Given the description of an element on the screen output the (x, y) to click on. 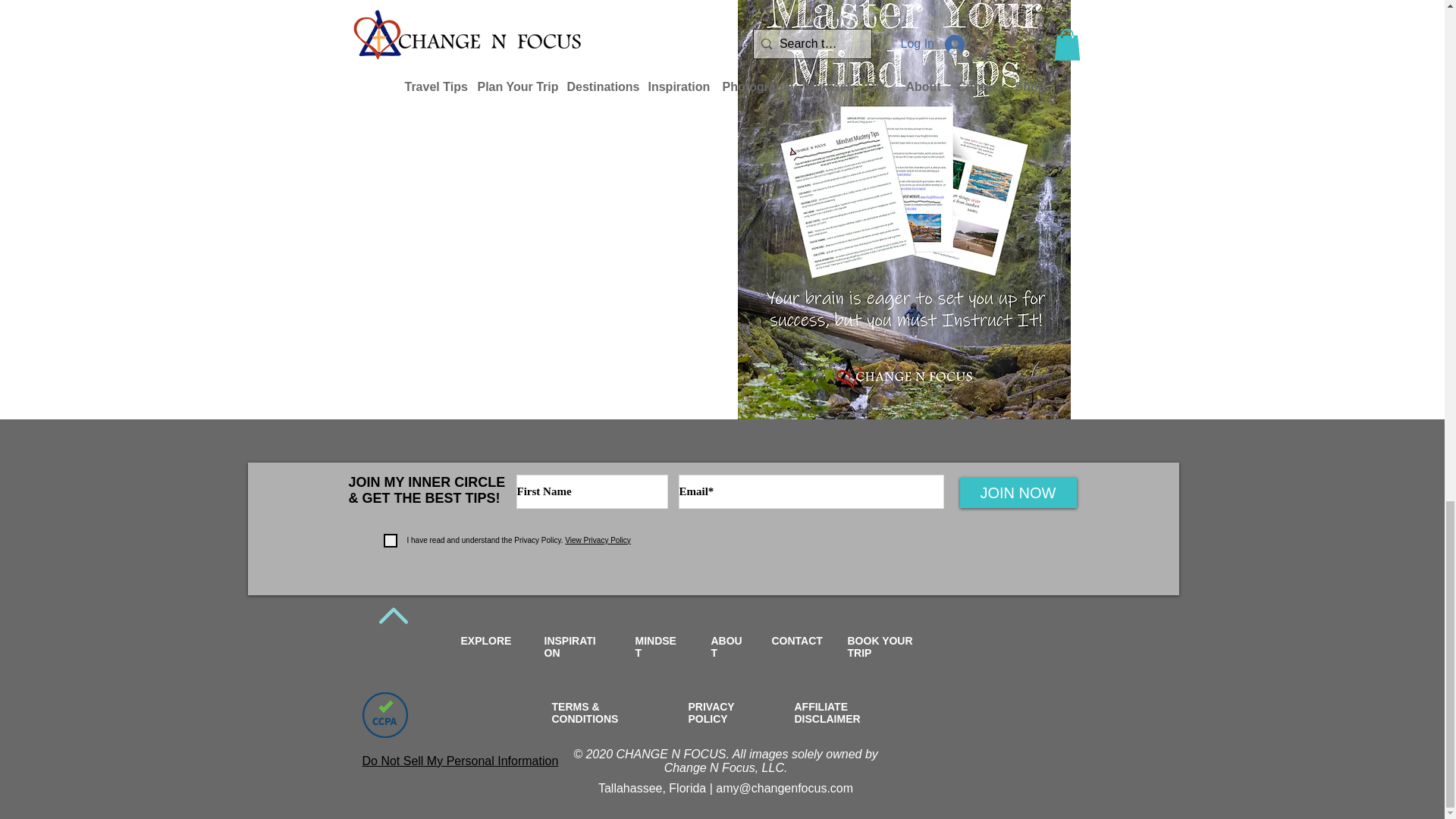
CONTACT (796, 640)
BOOK YOUR TRIP (879, 646)
EXPLORE (486, 640)
PRIVACY POLICY (711, 712)
AFFILIATE DISCLAIMER (827, 712)
INSPIRATION (569, 646)
MINDSET (655, 646)
JOIN NOW (1018, 492)
ABOUT (726, 646)
View Privacy Policy (596, 540)
